Given the description of an element on the screen output the (x, y) to click on. 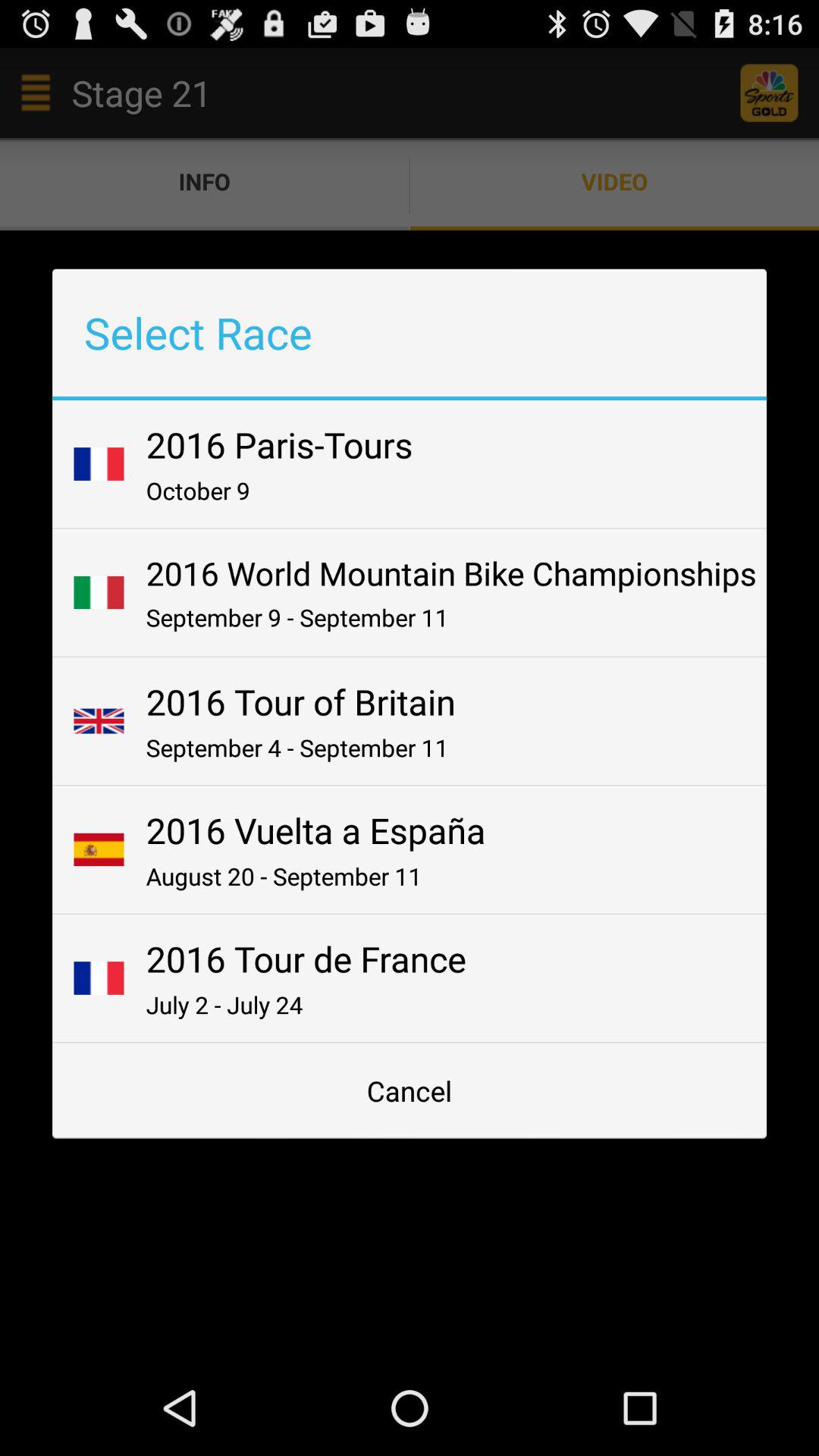
scroll to the cancel button (409, 1090)
